Given the description of an element on the screen output the (x, y) to click on. 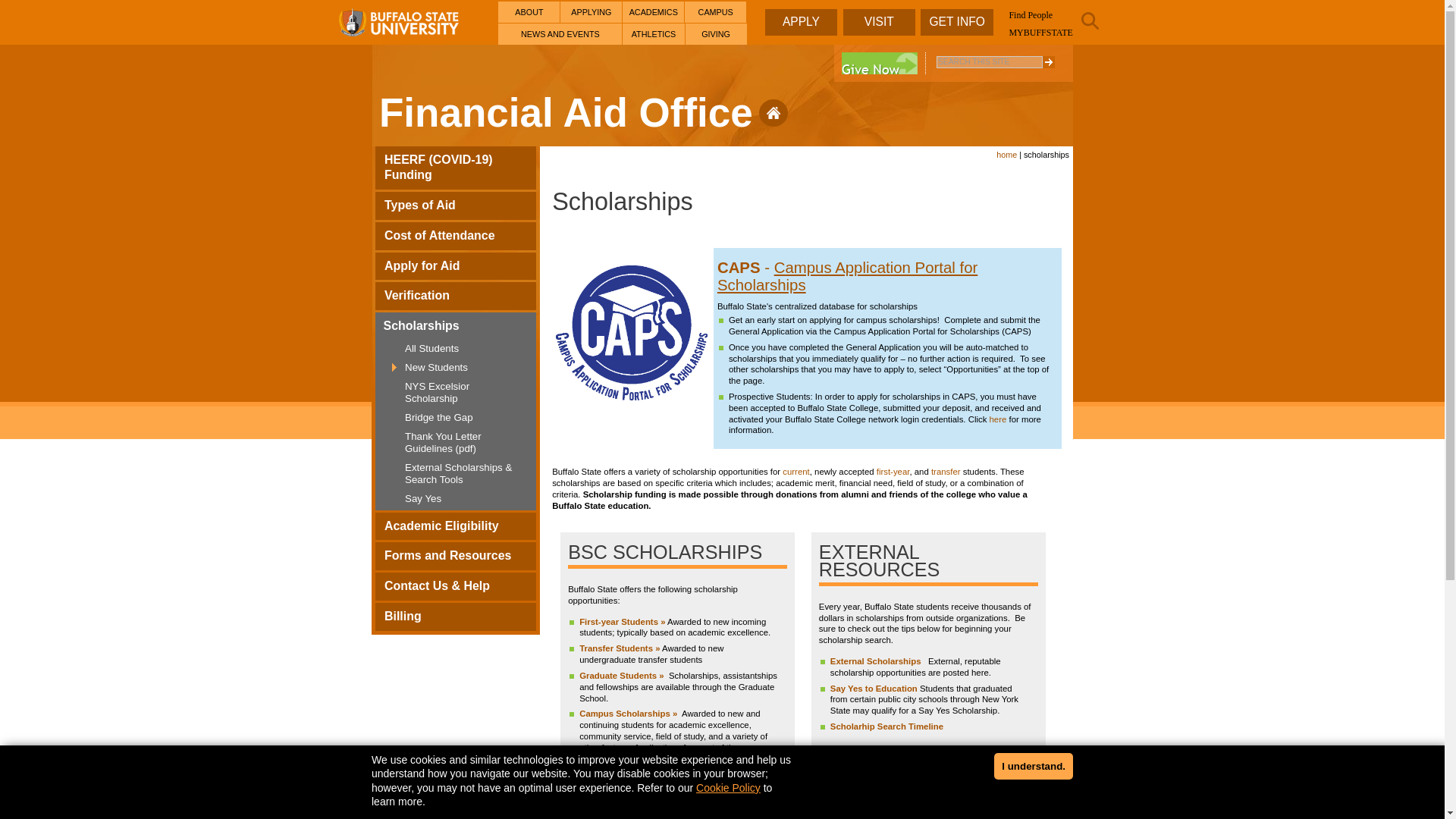
MYBUFFSTATE (1040, 32)
Buffalo State Athletics (653, 34)
Buffalo State's News and Events (559, 34)
CAMPUS (714, 11)
Search this site (1048, 61)
APPLYING (590, 11)
Apply to Buffalo State (590, 11)
ATHLETICS (653, 34)
MyBUFFState for Students and Faculty (1040, 32)
ABOUT (528, 11)
